Given the description of an element on the screen output the (x, y) to click on. 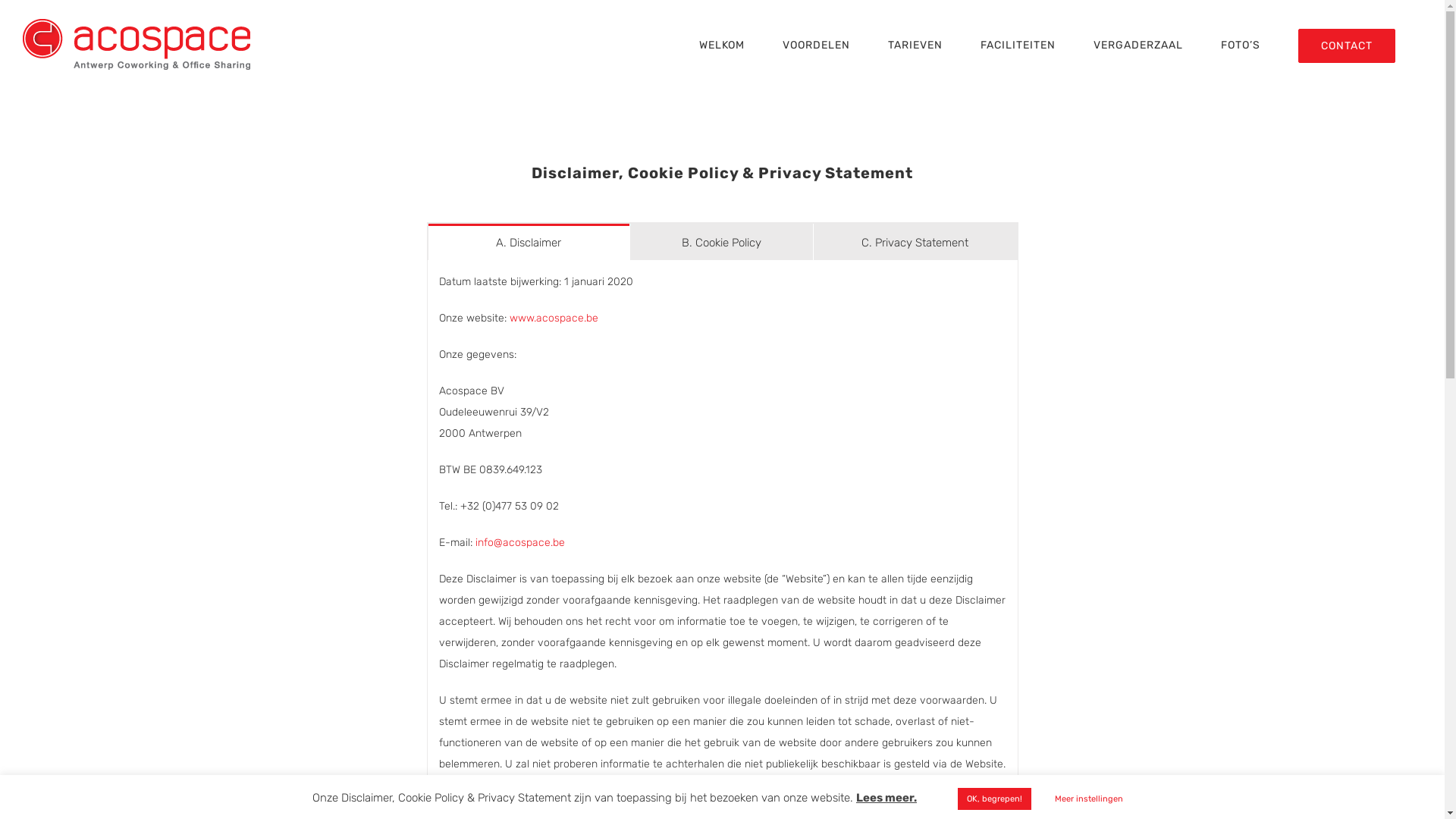
Lees meer. Element type: text (886, 797)
WELKOM Element type: text (721, 45)
B. Cookie Policy Element type: text (721, 241)
A. Disclaimer Element type: text (527, 241)
www.acospace.be Element type: text (553, 317)
FACILITEITEN Element type: text (1017, 45)
OK, begrepen! Element type: text (994, 798)
Meer instellingen Element type: text (1088, 798)
VOORDELEN Element type: text (816, 45)
C. Privacy Statement Element type: text (914, 241)
TARIEVEN Element type: text (914, 45)
VERGADERZAAL Element type: text (1138, 45)
info@acospace.be Element type: text (519, 542)
CONTACT Element type: text (1346, 45)
